Given the description of an element on the screen output the (x, y) to click on. 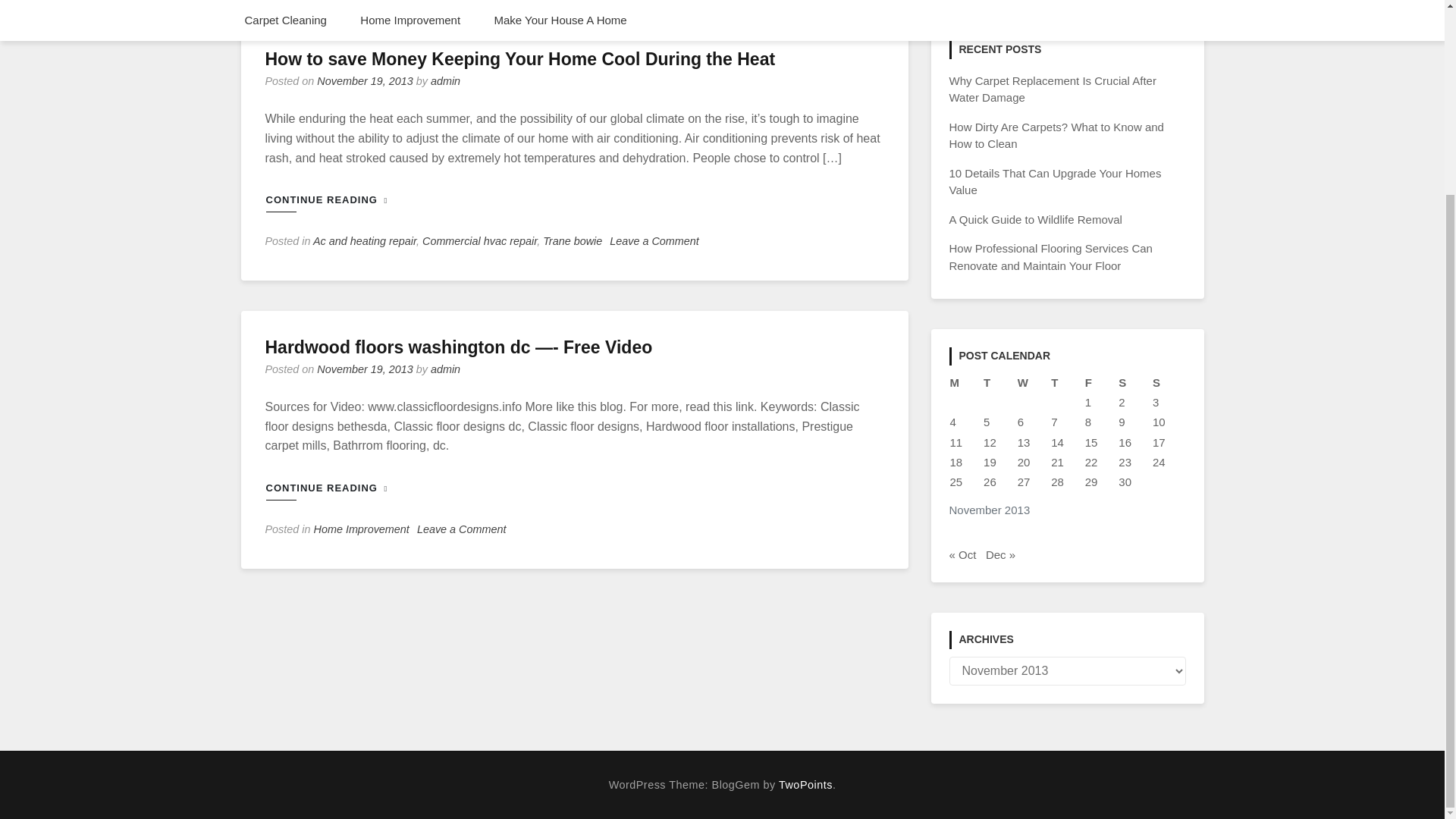
Saturday (1134, 383)
Why Carpet Replacement Is Crucial After Water Damage (1052, 89)
TwoPoints (805, 784)
Thursday (1066, 383)
Ac and heating repair (364, 241)
Tuesday (999, 383)
10 Details That Can Upgrade Your Homes Value (1055, 182)
13 (1023, 441)
admin (445, 80)
